Given the description of an element on the screen output the (x, y) to click on. 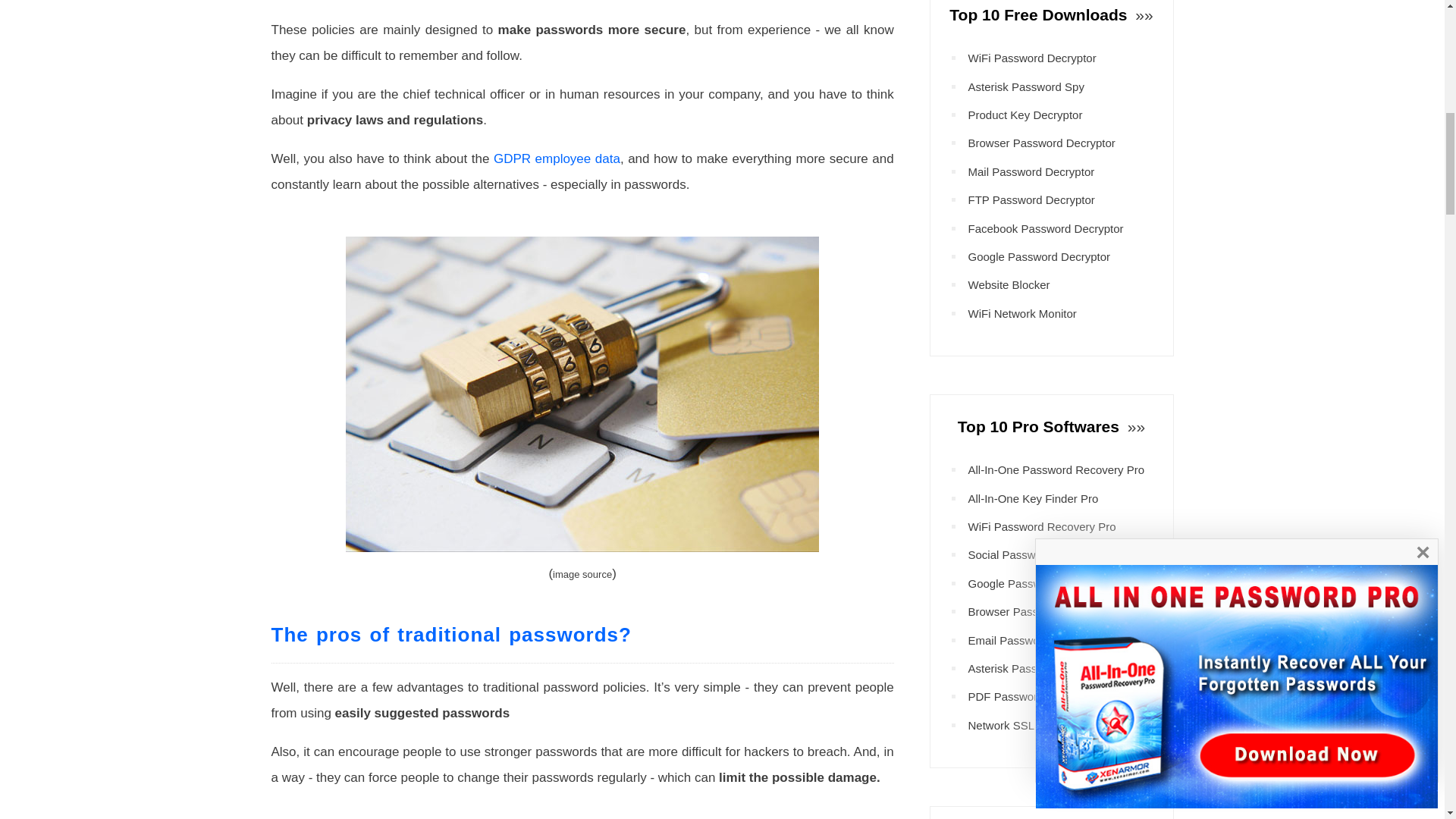
image source (582, 573)
See More... (1134, 425)
GDPR employee data (556, 158)
See More... (1142, 14)
